Given the description of an element on the screen output the (x, y) to click on. 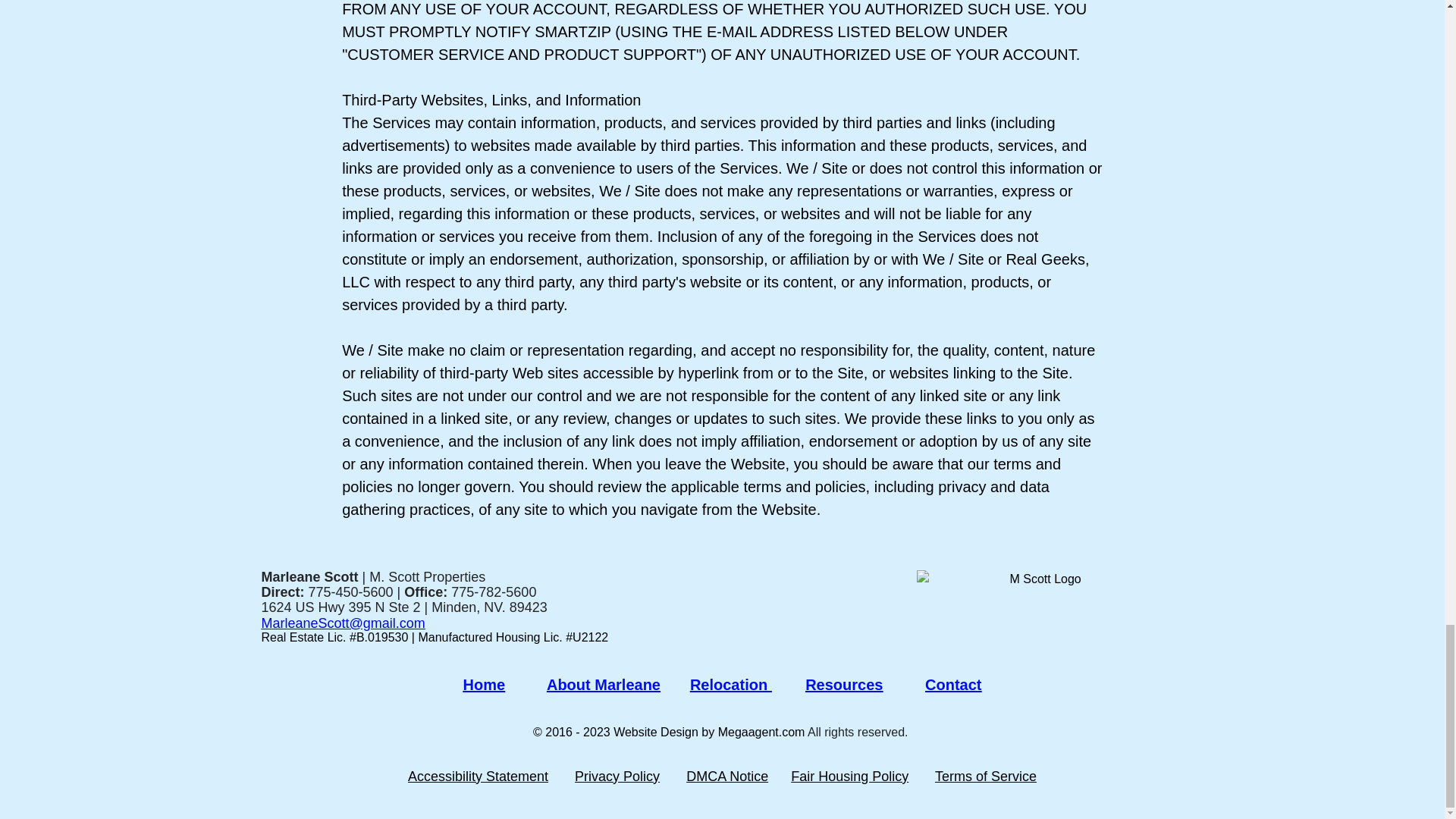
About Marleane (604, 684)
Fair Housing Policy (849, 776)
Contact (952, 684)
Terms of Service (985, 776)
DMCA Notice (726, 776)
Privacy Policy (617, 776)
Home (484, 684)
Relocation  (730, 684)
Resources (843, 684)
Accessibility Statement (477, 776)
